Given the description of an element on the screen output the (x, y) to click on. 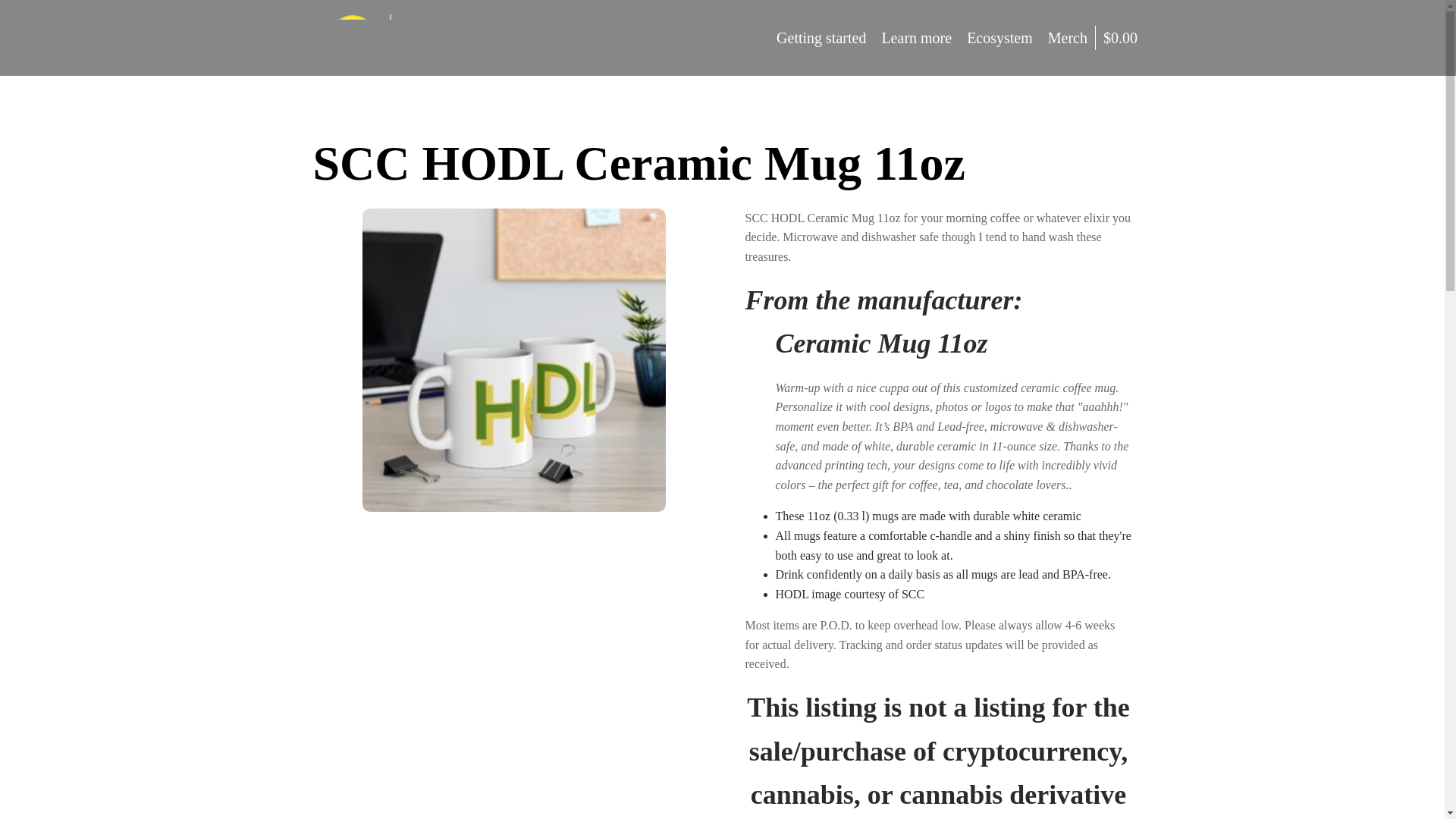
Merch (1067, 37)
Learn more (916, 37)
Getting started (820, 37)
Ecosystem (1000, 37)
